Given the description of an element on the screen output the (x, y) to click on. 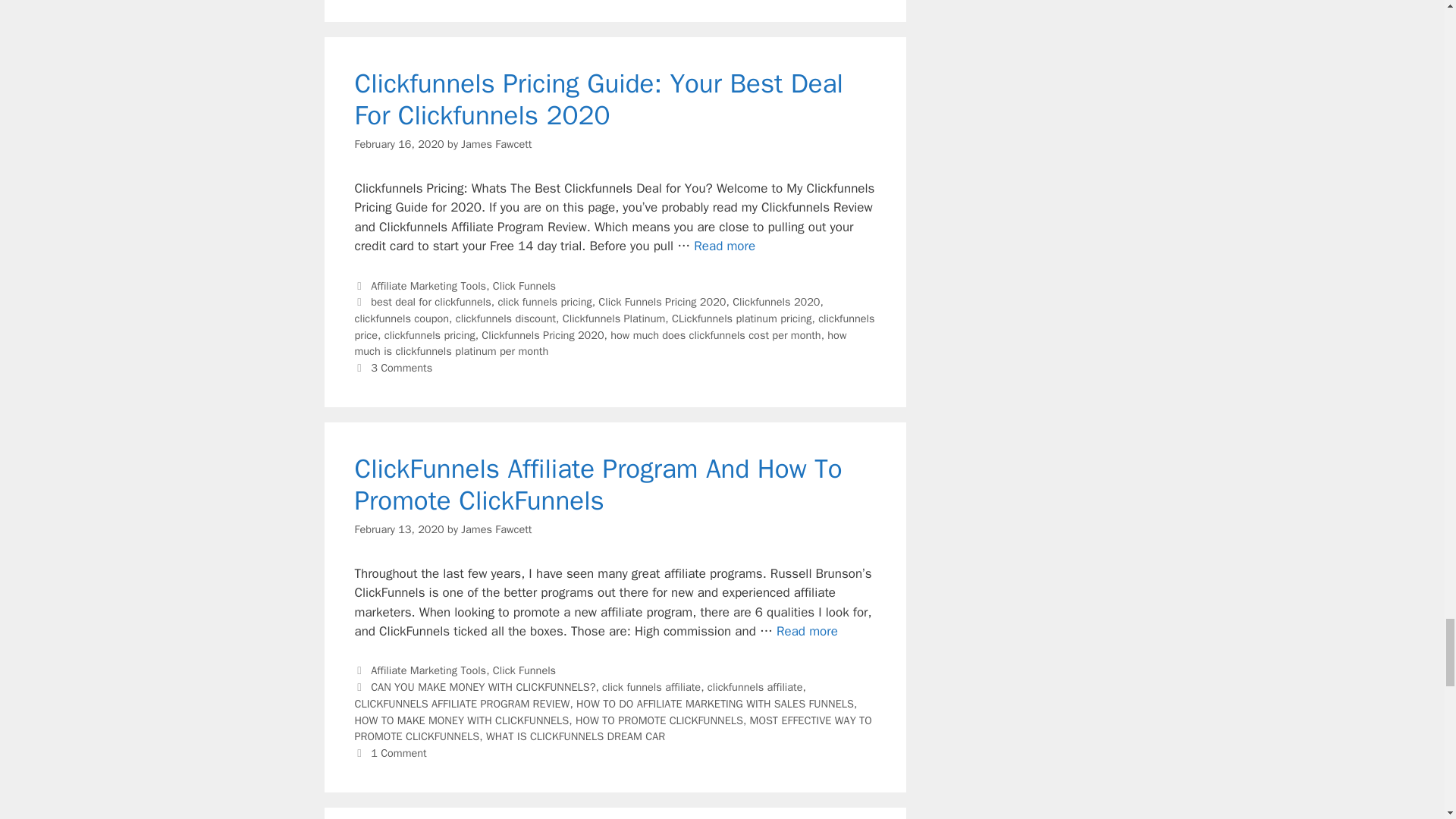
View all posts by James Fawcett (496, 143)
View all posts by James Fawcett (496, 529)
